Given the description of an element on the screen output the (x, y) to click on. 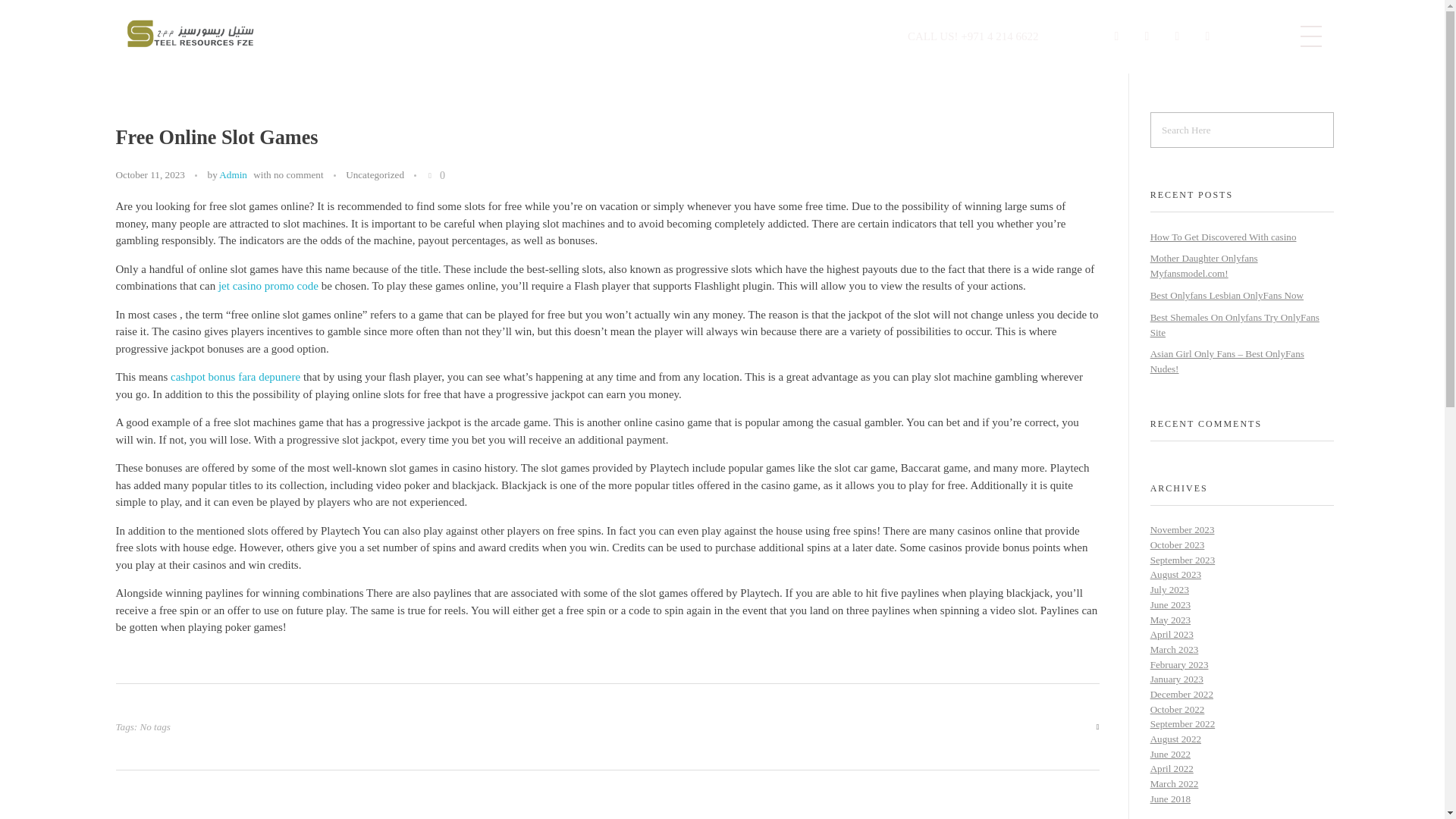
View all posts by Admin (233, 174)
October 2022 (1177, 708)
April 2023 (1171, 633)
May 2023 (1170, 619)
Uncategorized (375, 174)
July 2023 (1169, 589)
How To Get Discovered With casino (1223, 235)
View all posts in Uncategorized (375, 174)
August 2022 (1175, 738)
June 2023 (1170, 604)
Admin (233, 174)
Mother Daughter Onlyfans Myfansmodel.com! (1203, 265)
Best Onlyfans Lesbian OnlyFans Now (1226, 295)
September 2022 (1182, 723)
August 2023 (1175, 573)
